Given the description of an element on the screen output the (x, y) to click on. 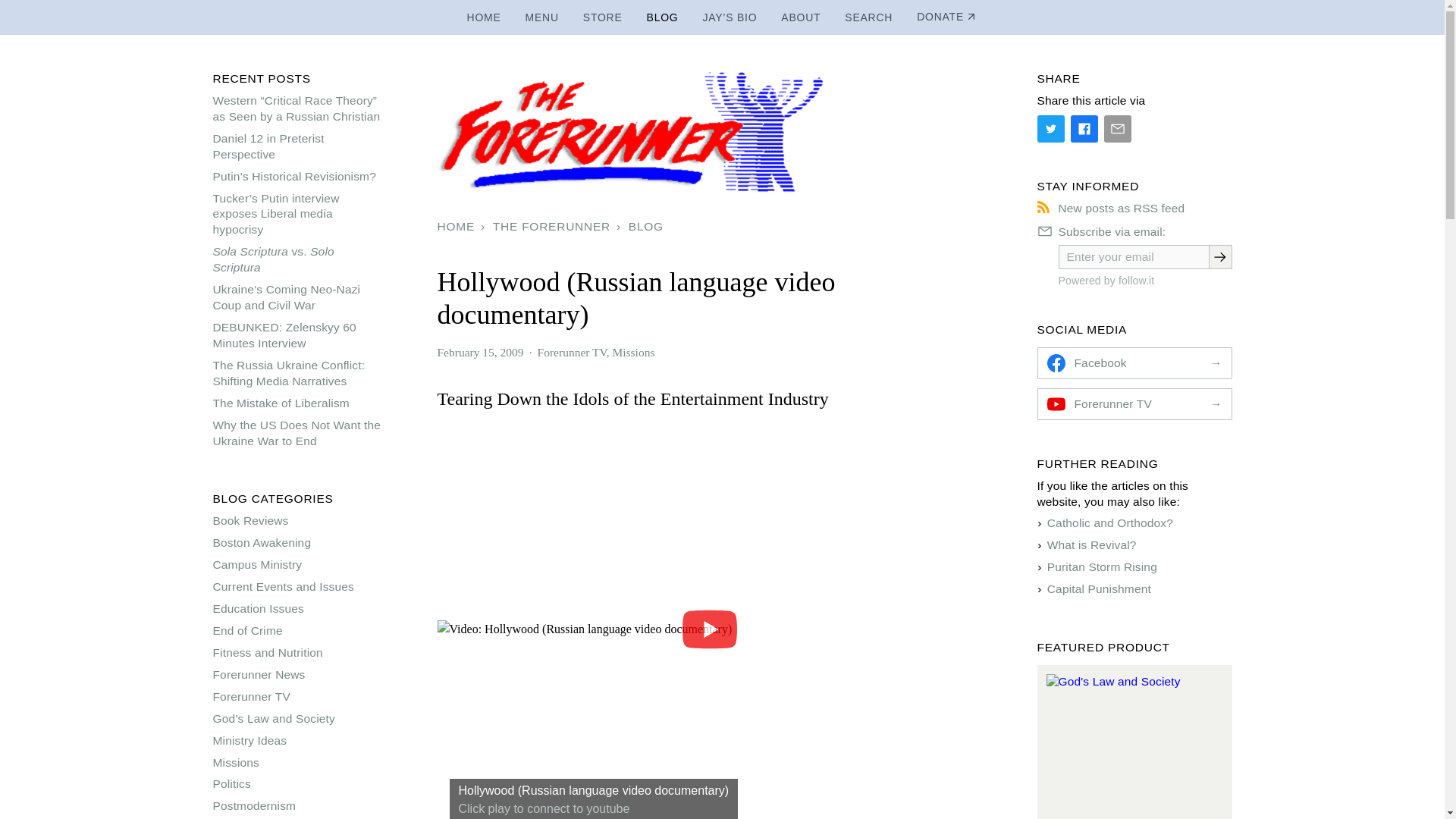
The Forerunner Weblog (662, 17)
Books and DVDs (602, 17)
MENU (541, 17)
Search this site (868, 17)
About us (800, 17)
SEARCH (868, 17)
Donate via PayPal (947, 17)
ABOUT (800, 17)
HOME (483, 17)
HOME (458, 226)
Site overview (541, 17)
Missions (632, 351)
Back to homepage (483, 17)
Play this video (593, 789)
DONATE (947, 17)
